Given the description of an element on the screen output the (x, y) to click on. 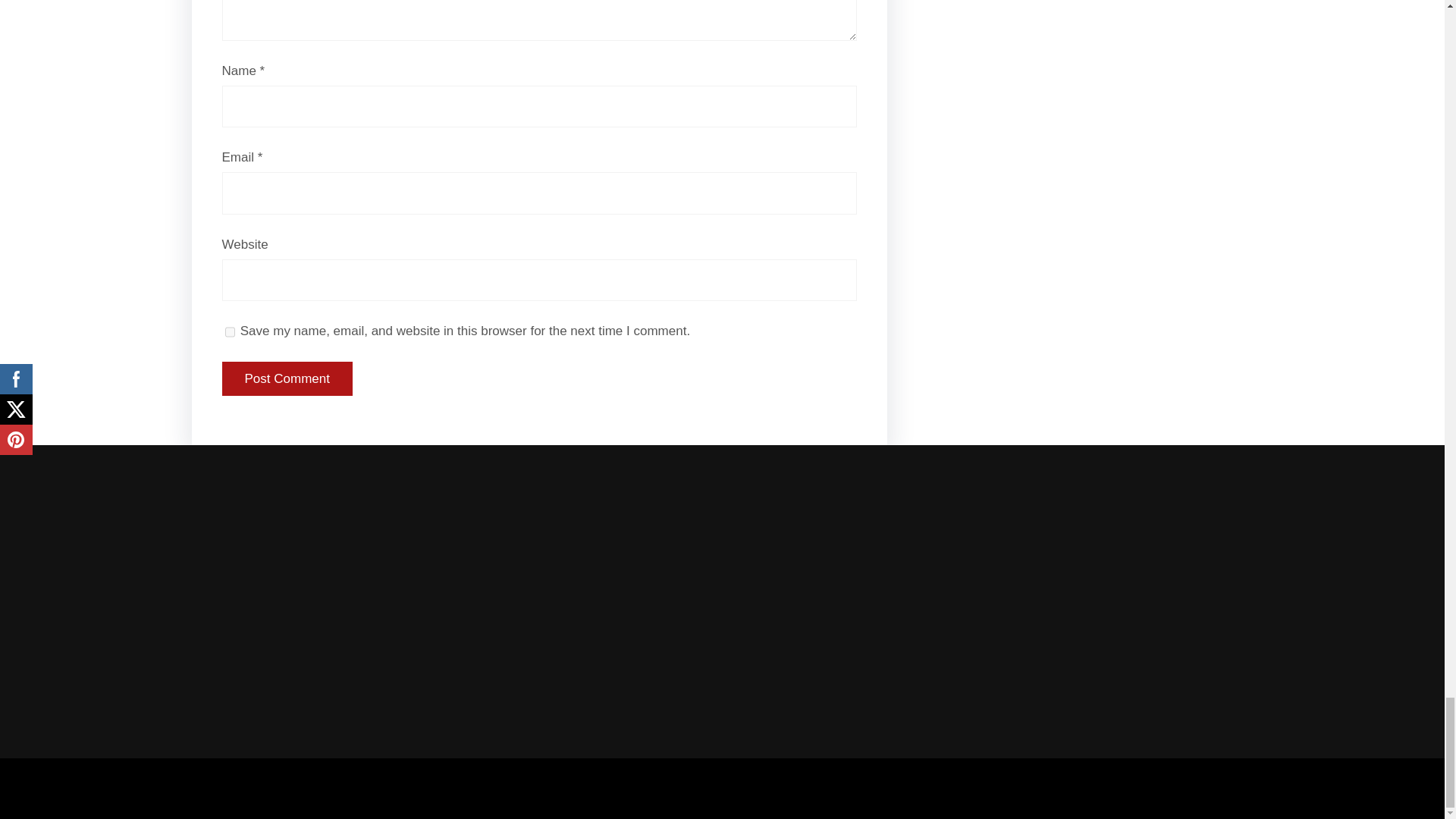
Post Comment (286, 378)
